Given the description of an element on the screen output the (x, y) to click on. 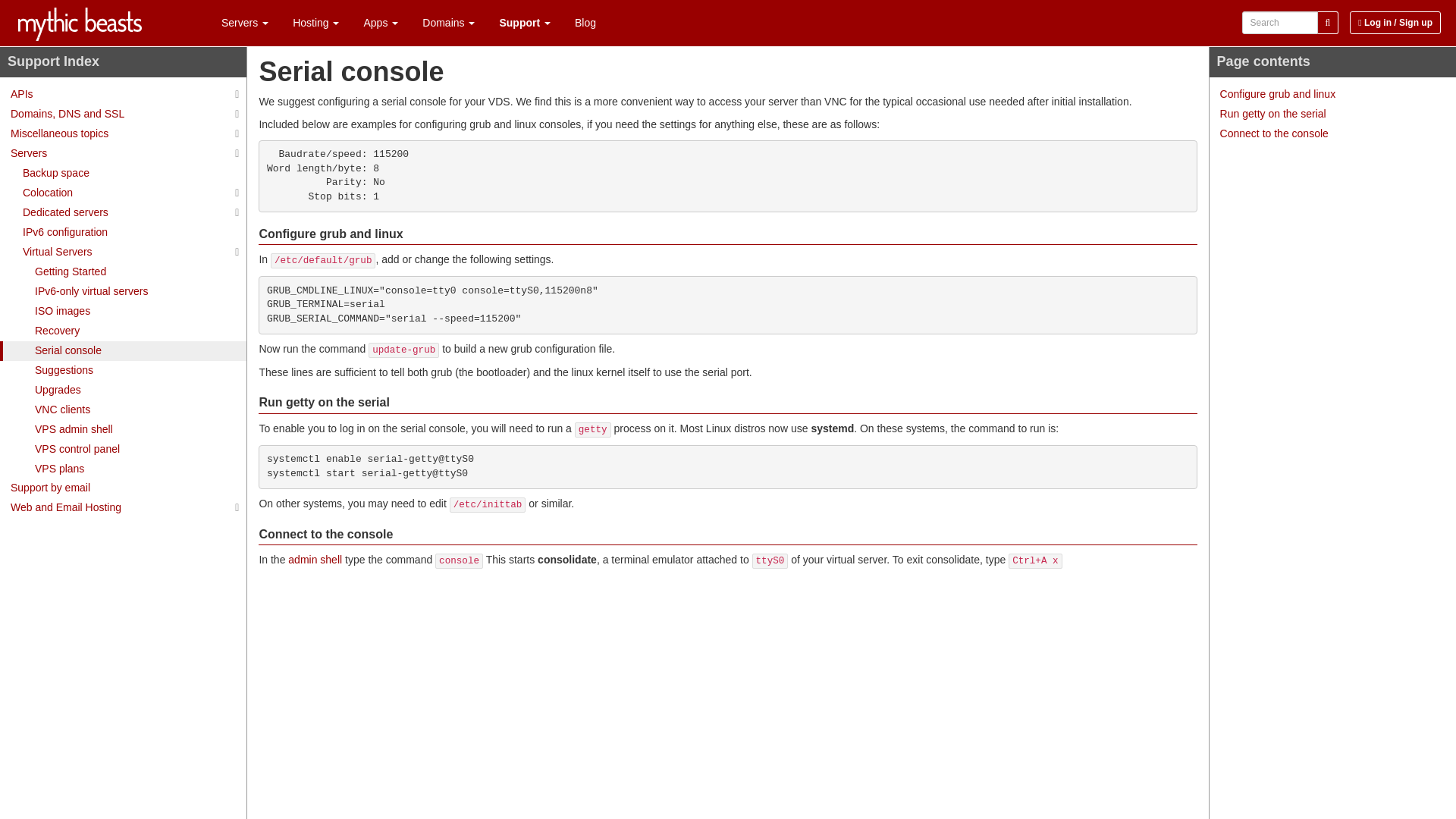
Servers (243, 22)
Domains (447, 22)
Support (523, 22)
Hosting (314, 22)
Apps (379, 22)
